Given the description of an element on the screen output the (x, y) to click on. 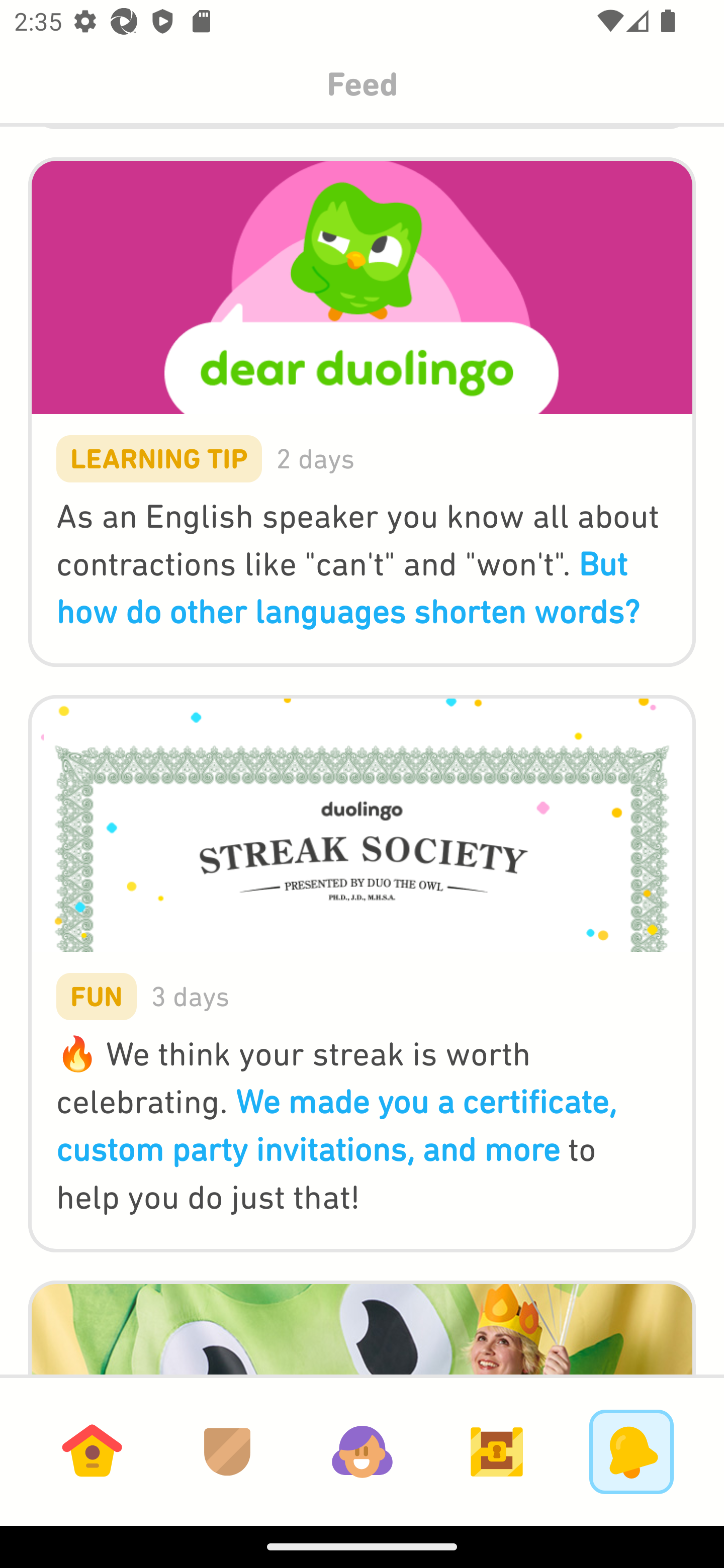
Learn Tab (91, 1451)
Leagues Tab (227, 1451)
Profile Tab (361, 1451)
Goals Tab (496, 1451)
News Tab (631, 1451)
